Given the description of an element on the screen output the (x, y) to click on. 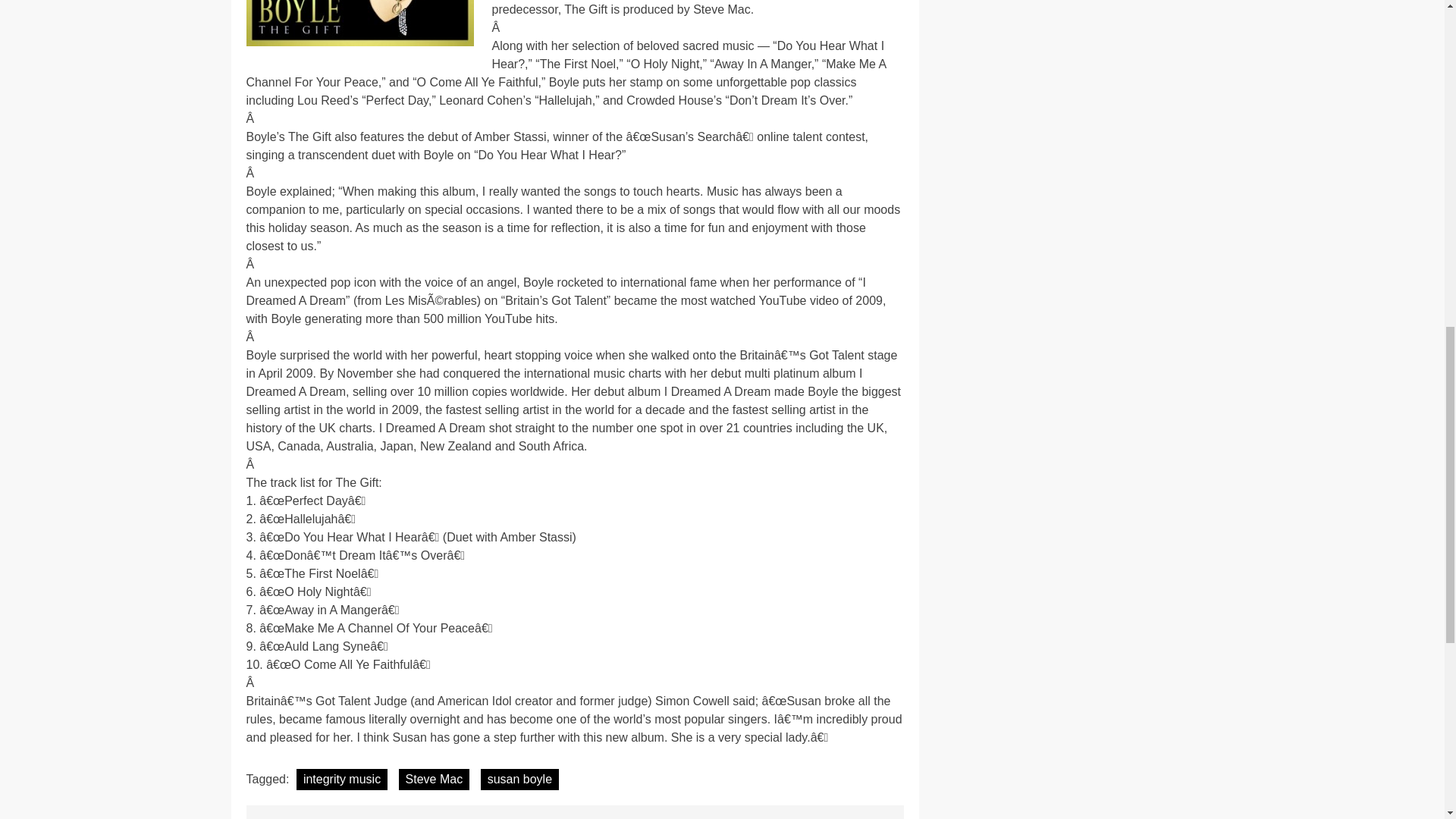
Steve Mac (434, 779)
integrity music (342, 779)
susan boyle (359, 22)
susan boyle (519, 779)
